Given the description of an element on the screen output the (x, y) to click on. 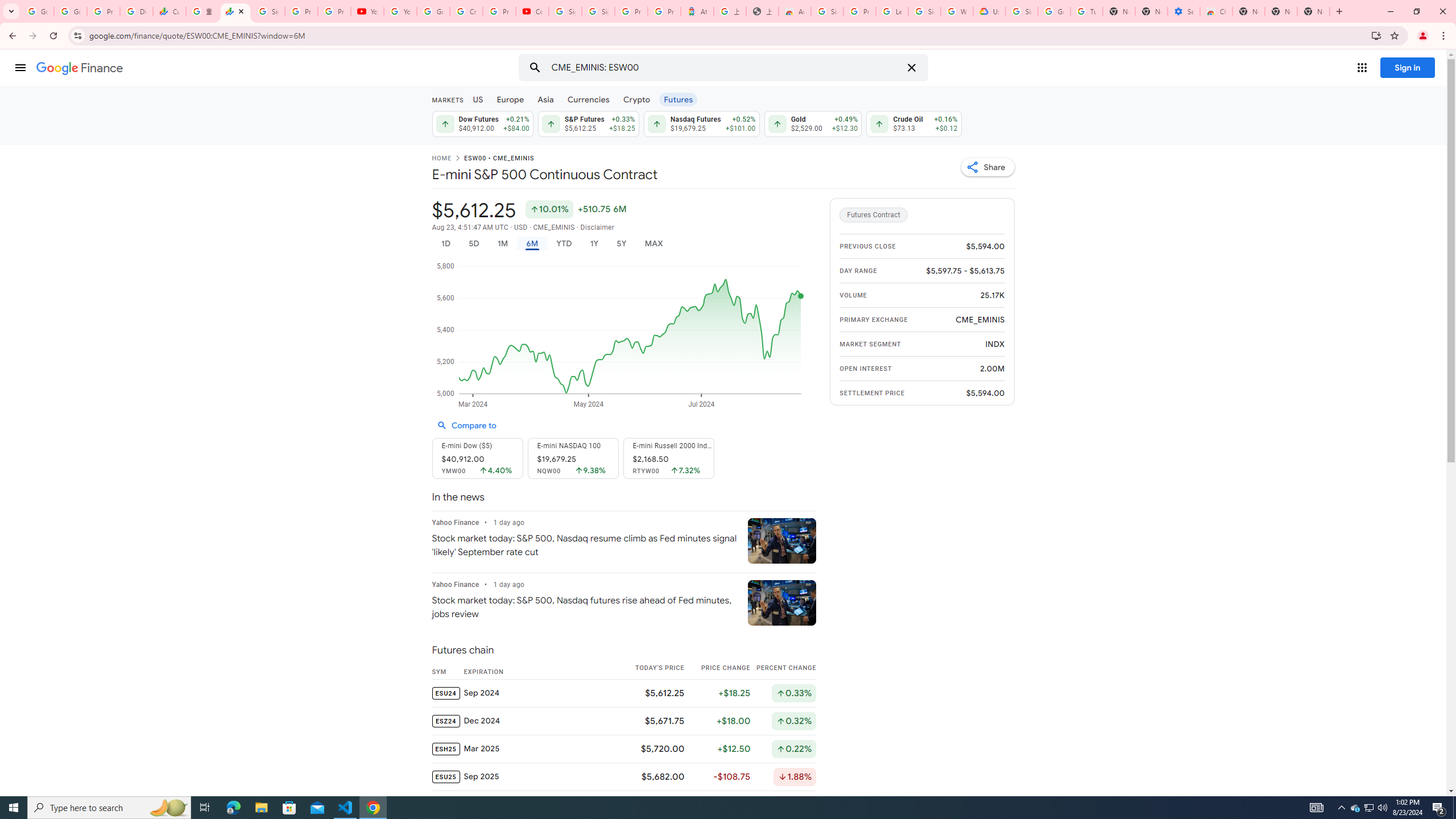
ESZ25 Dec 2025 $5,352.50 -$475.50 Down by 8.16% (623, 804)
Install Google Finance (1376, 35)
Clear search (911, 67)
Currencies (588, 99)
Asia (545, 99)
Content Creator Programs & Opportunities - YouTube Creators (532, 11)
Turn cookies on or off - Computer - Google Account Help (1086, 11)
5D (473, 243)
Google Account Help (433, 11)
